Given the description of an element on the screen output the (x, y) to click on. 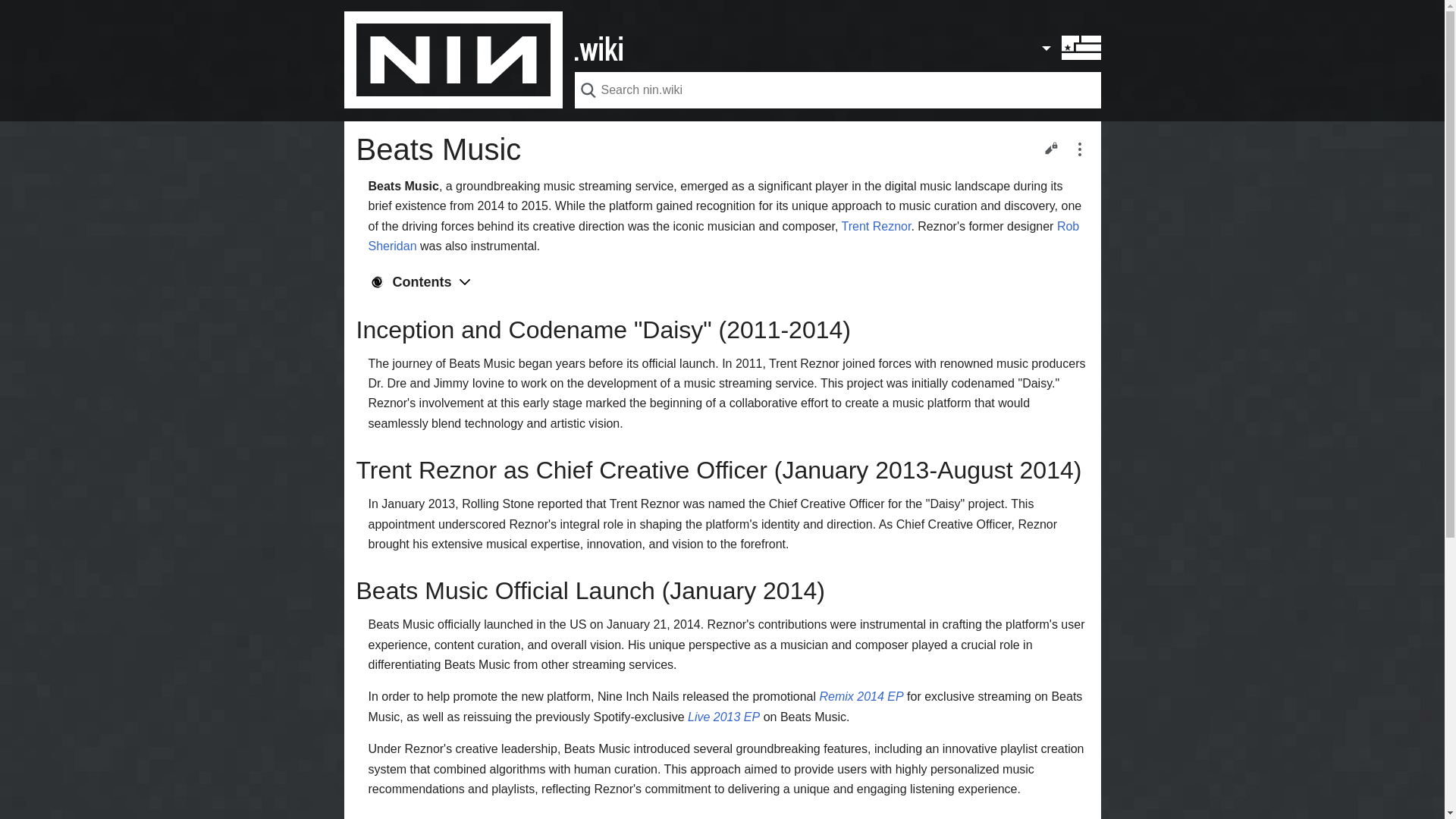
Live 2013 EP (723, 716)
Rob Sheridan (724, 236)
Trent Reznor (876, 226)
Remix 2014 EP (860, 696)
Edit (1050, 147)
Trent Reznor (876, 226)
Edit the lead section of this page (1050, 147)
Rob Sheridan (724, 236)
Remix 2014 EP (860, 696)
Live 2013 EP (723, 716)
